Given the description of an element on the screen output the (x, y) to click on. 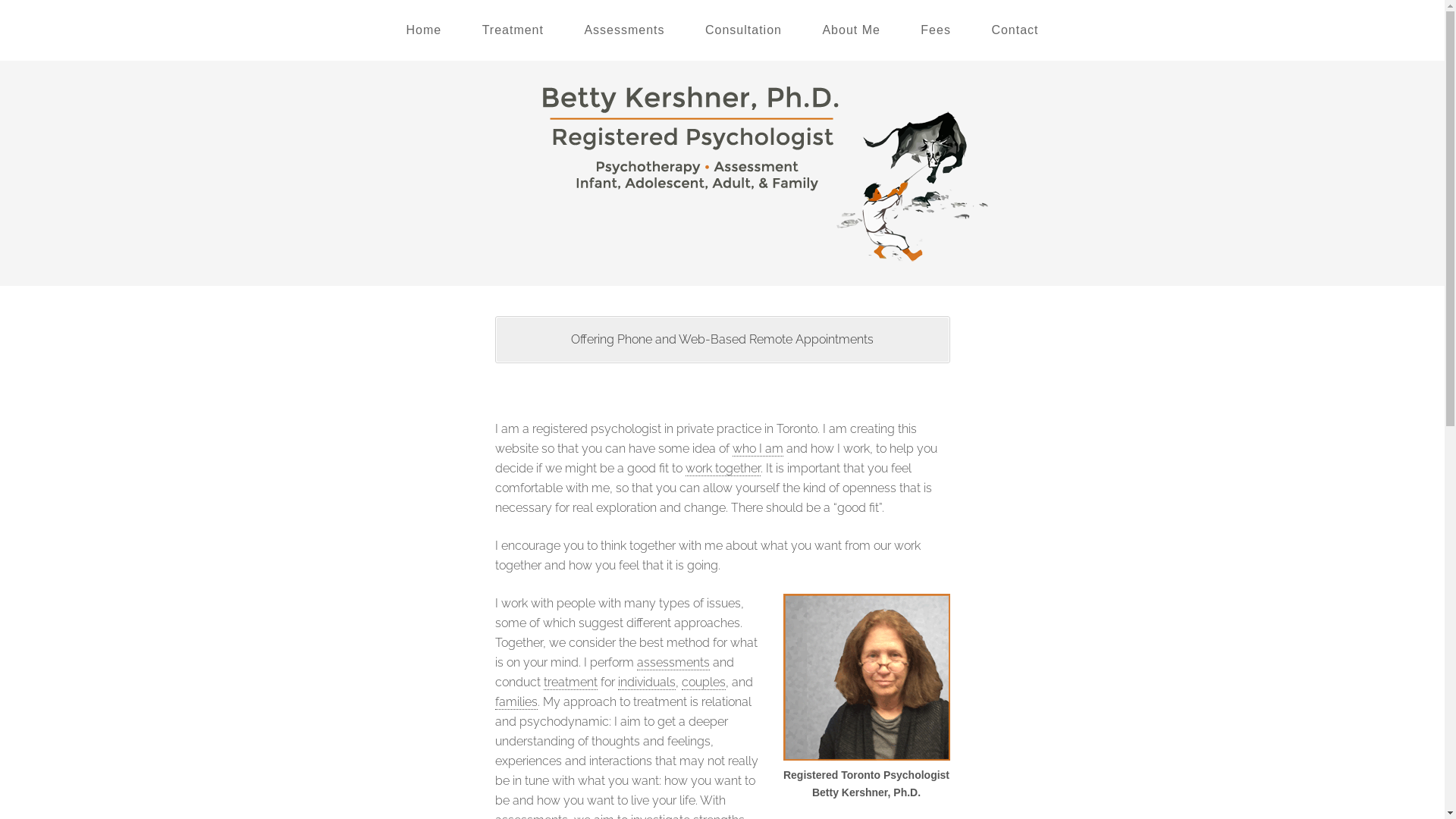
Registered Toronto Psychologist Betty Kershner Element type: hover (721, 250)
assessments Element type: text (673, 662)
families Element type: text (515, 701)
Treatment Element type: text (512, 30)
Fees Element type: text (935, 30)
treatment Element type: text (569, 682)
Contact Element type: text (1014, 30)
Consultation Element type: text (743, 30)
individuals Element type: text (645, 682)
couples Element type: text (702, 682)
Assessments Element type: text (623, 30)
who I am Element type: text (757, 448)
Home Element type: text (423, 30)
work together Element type: text (722, 468)
About Me Element type: text (850, 30)
